Given the description of an element on the screen output the (x, y) to click on. 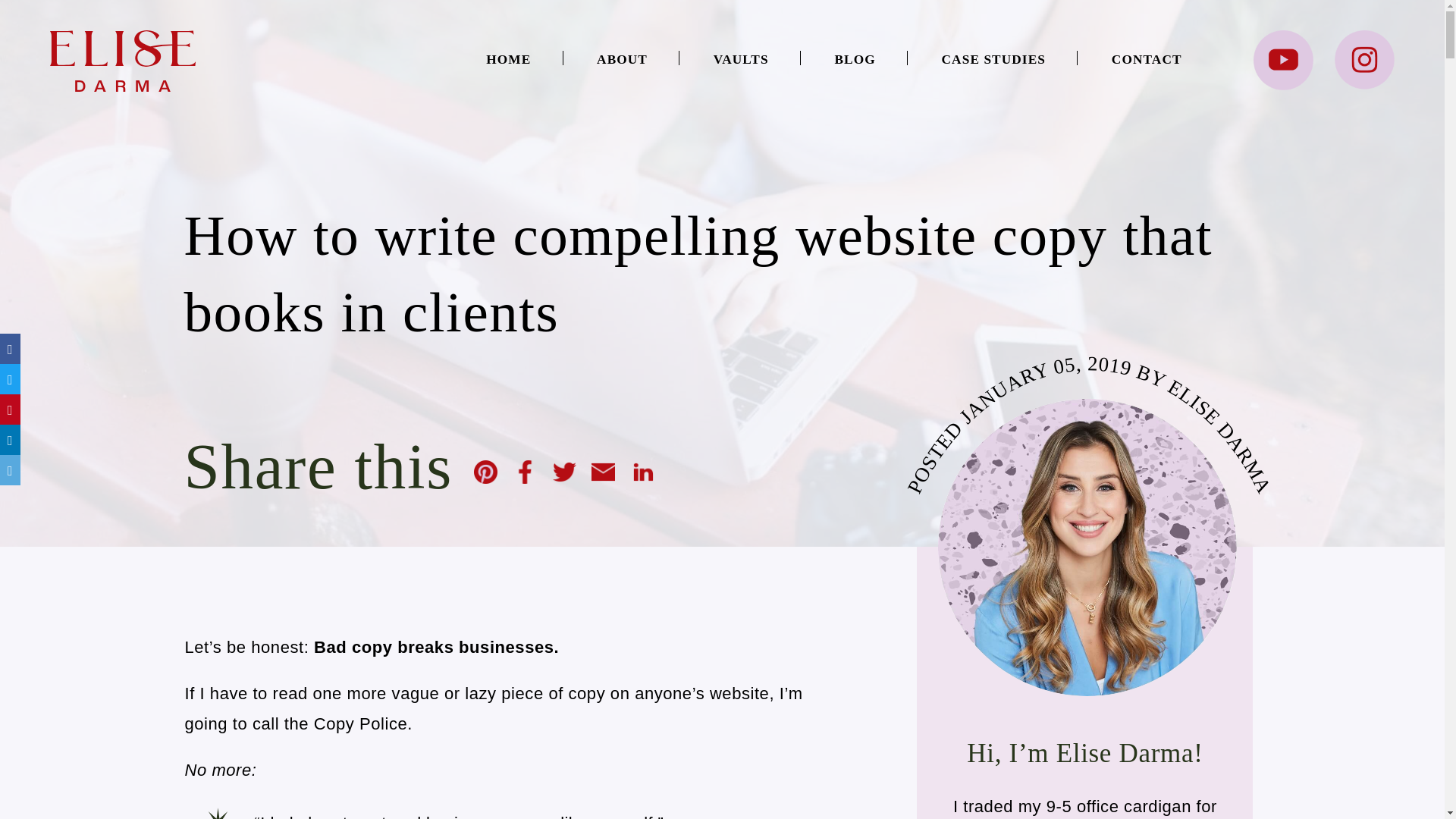
HOME (508, 59)
BLOG (854, 59)
ABOUT (621, 59)
CONTACT (1147, 59)
POSTED JANUARY 05, 2019 BY ELISE DARMA (1088, 547)
VAULTS (740, 59)
CASE STUDIES (993, 59)
